Given the description of an element on the screen output the (x, y) to click on. 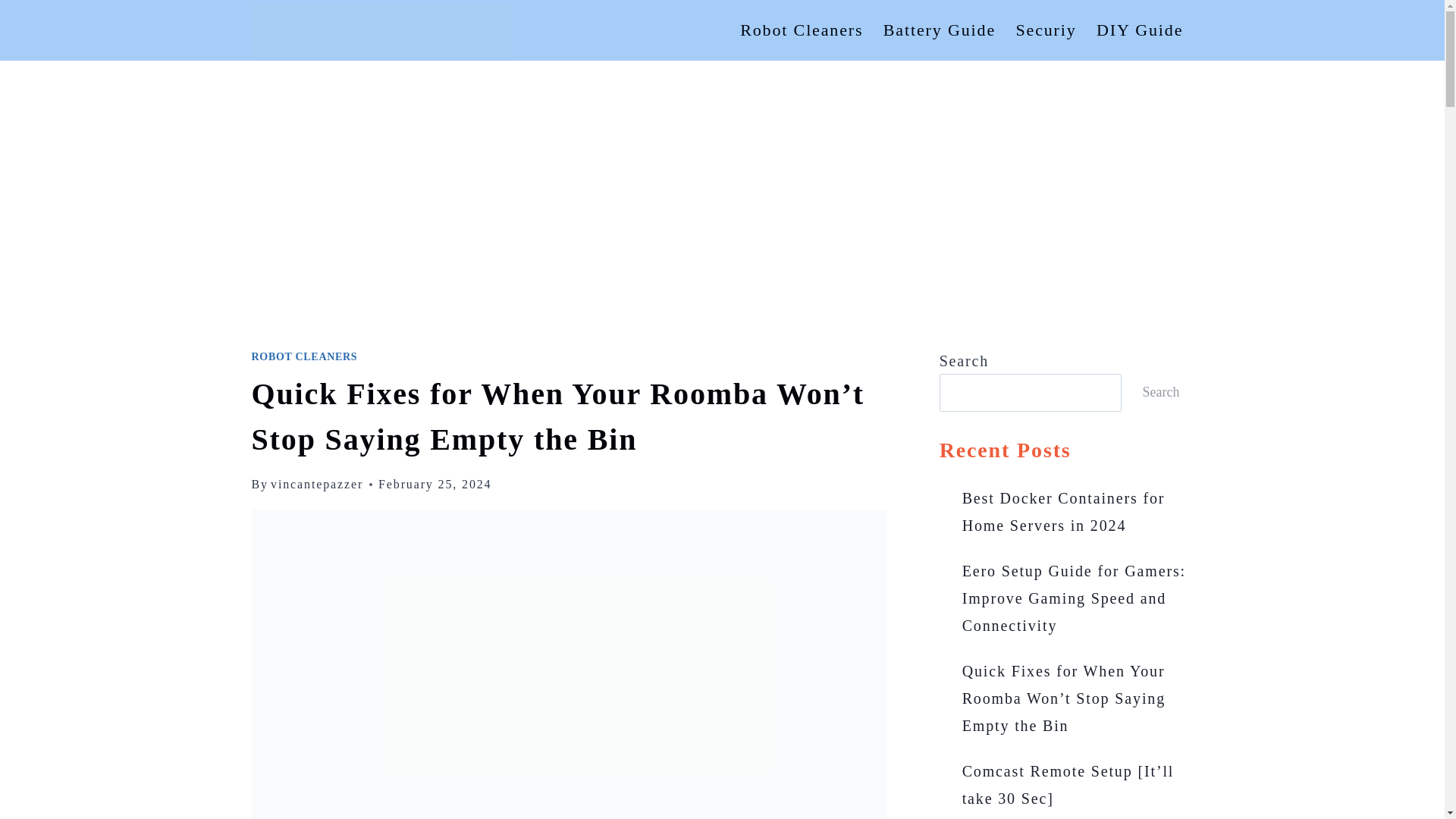
Robot Cleaners (801, 30)
vincantepazzer (316, 483)
Securiy (1046, 30)
ROBOT CLEANERS (304, 356)
DIY Guide (1139, 30)
Battery Guide (939, 30)
